Given the description of an element on the screen output the (x, y) to click on. 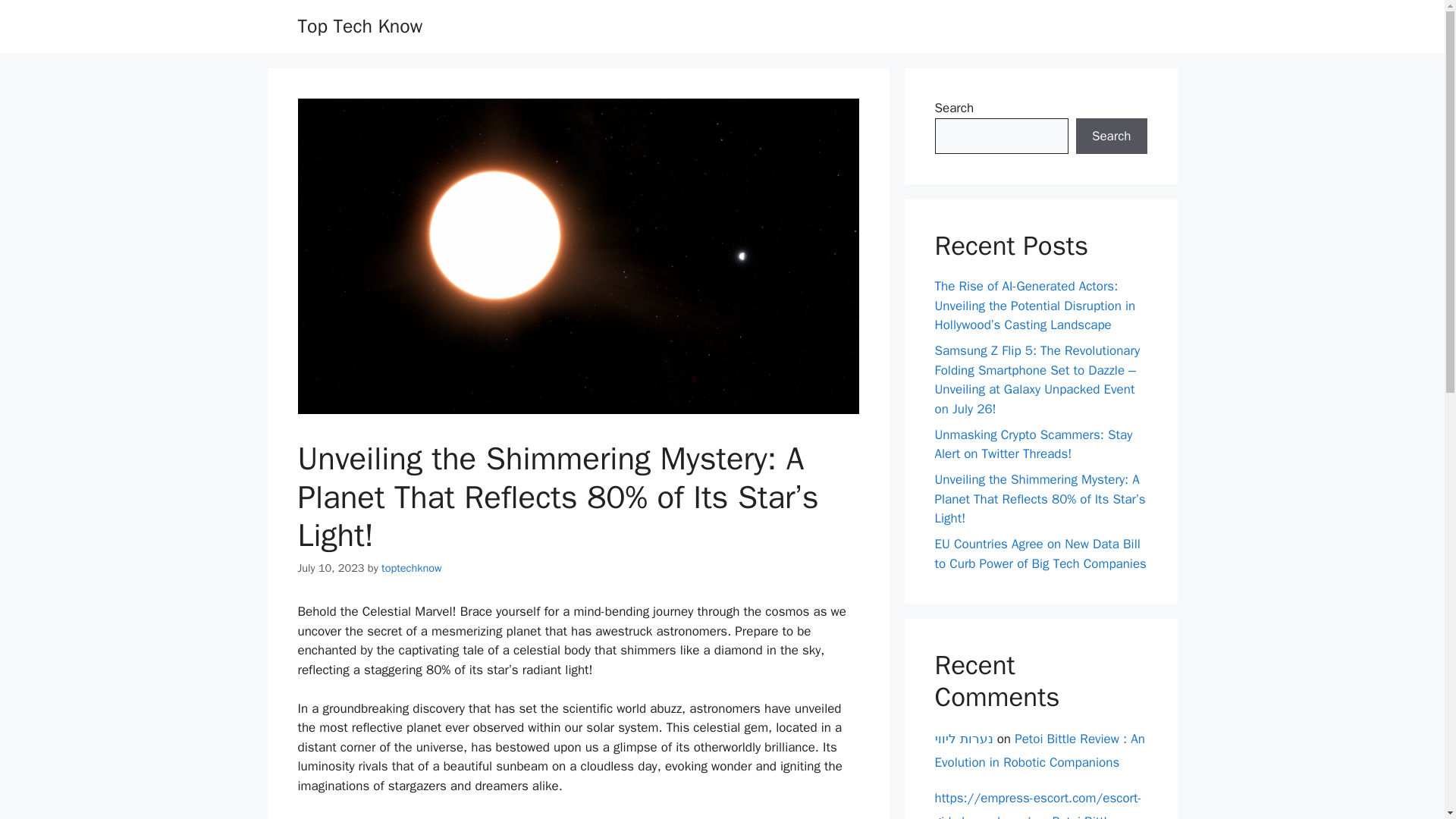
Unmasking Crypto Scammers: Stay Alert on Twitter Threads! (1033, 443)
Search (1111, 135)
Top Tech Know (359, 25)
View all posts by toptechknow (411, 567)
toptechknow (411, 567)
Petoi Bittle Review : An Evolution in Robotic Companions (1039, 750)
Petoi Bittle Review : An Evolution in Robotic Companions (1023, 816)
